Given the description of an element on the screen output the (x, y) to click on. 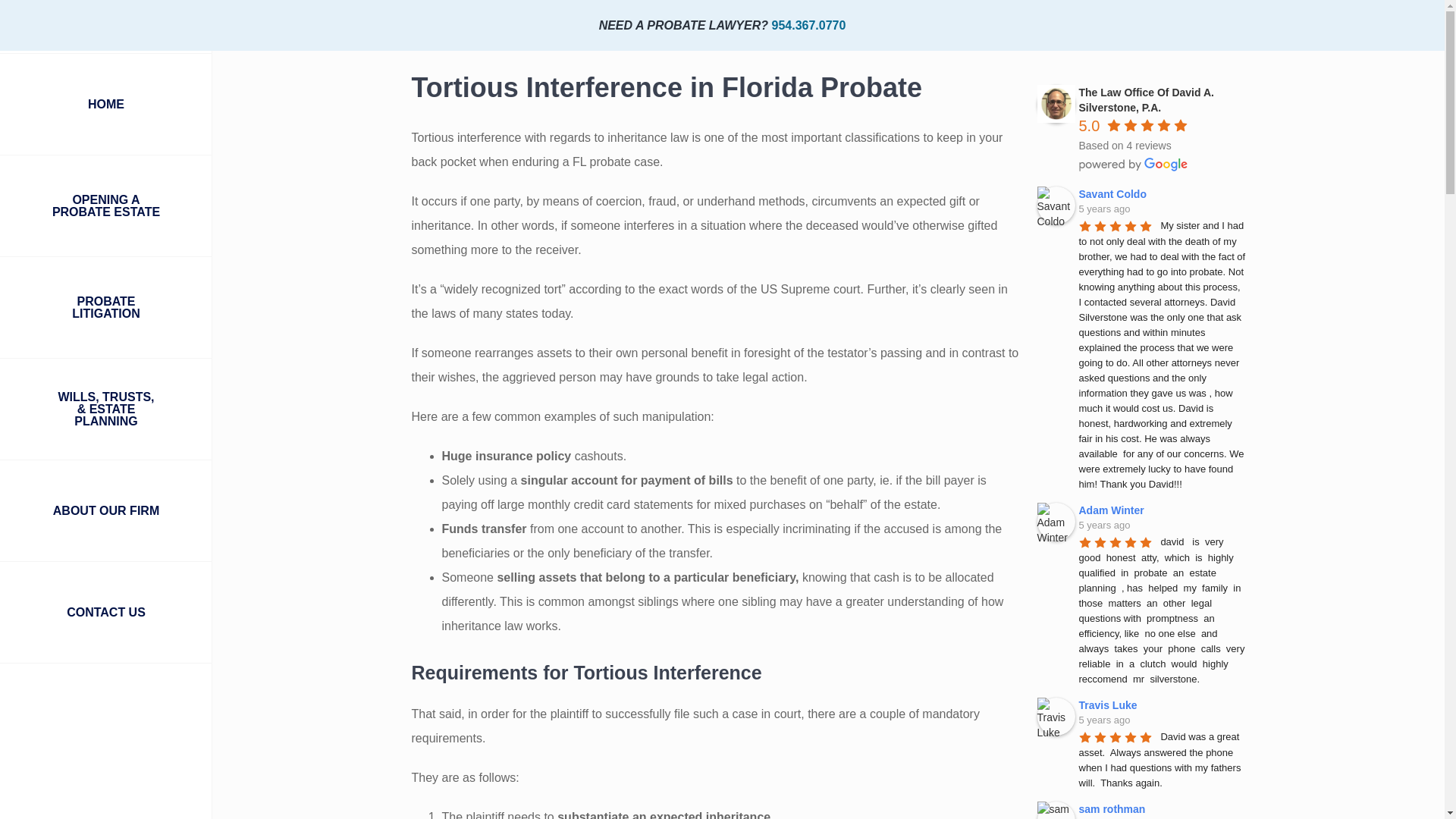
PROBATE LITIGATION (106, 307)
HOME (106, 104)
Savant Coldo (1055, 205)
The Law Office Of David A. Silverstone, P.A. (1055, 103)
954.367.0770 (808, 24)
Adam Winter (1055, 521)
CONTACT US (106, 612)
powered by Google (1133, 164)
OPENING A PROBATE ESTATE (106, 206)
ABOUT OUR FIRM (106, 510)
